Given the description of an element on the screen output the (x, y) to click on. 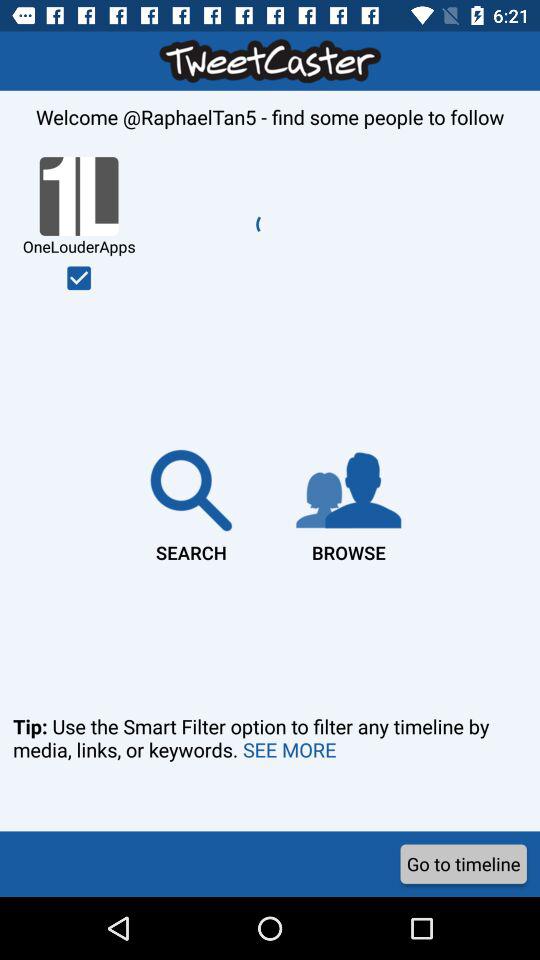
turn off the item above the tip use the (348, 502)
